Given the description of an element on the screen output the (x, y) to click on. 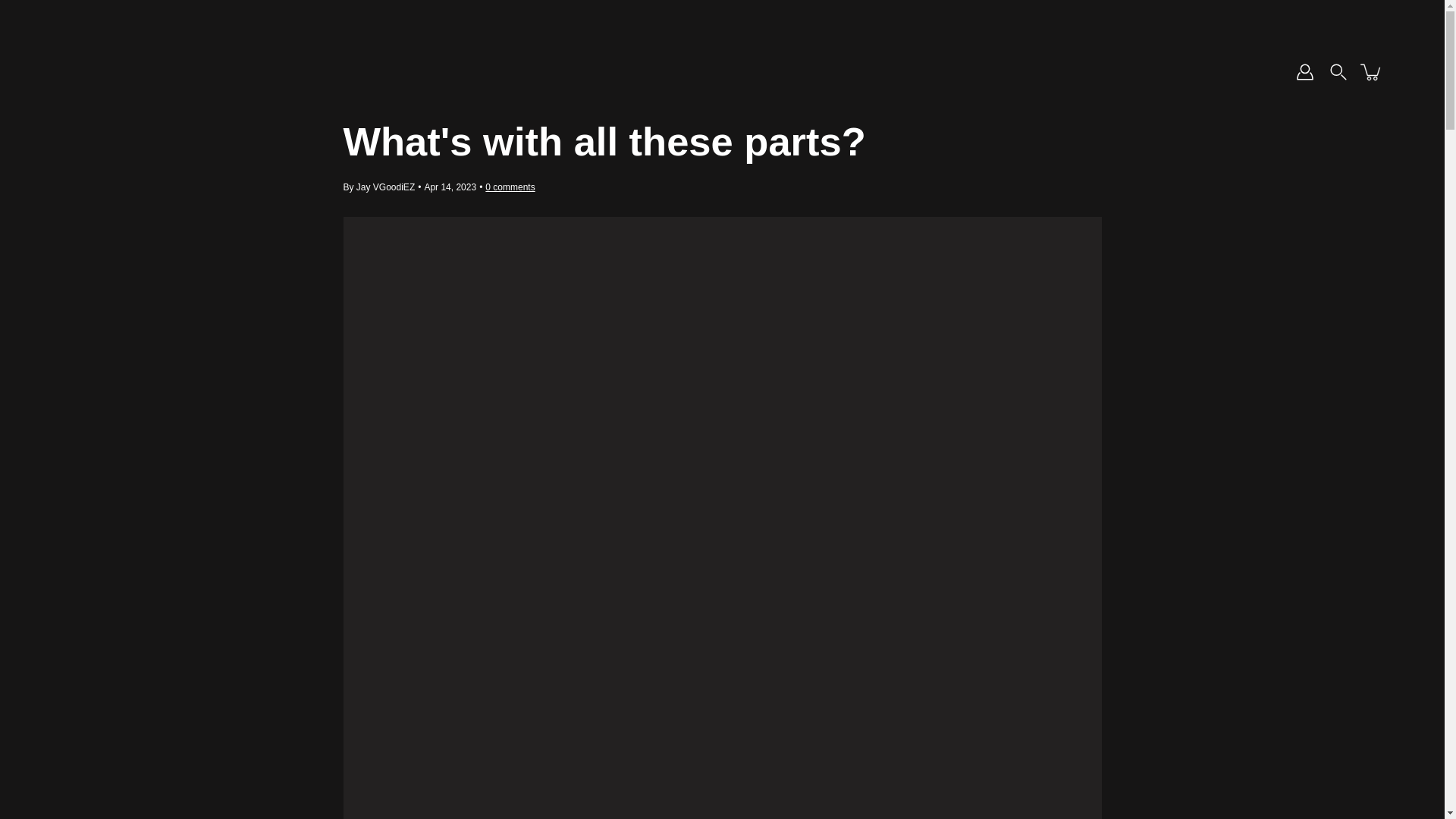
0 comments (509, 186)
